Given the description of an element on the screen output the (x, y) to click on. 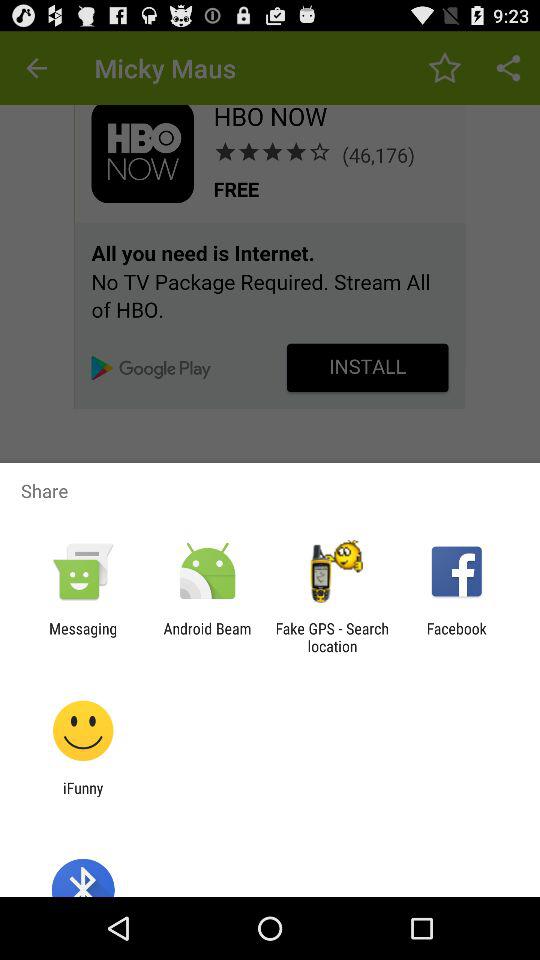
swipe to the messaging icon (83, 637)
